Given the description of an element on the screen output the (x, y) to click on. 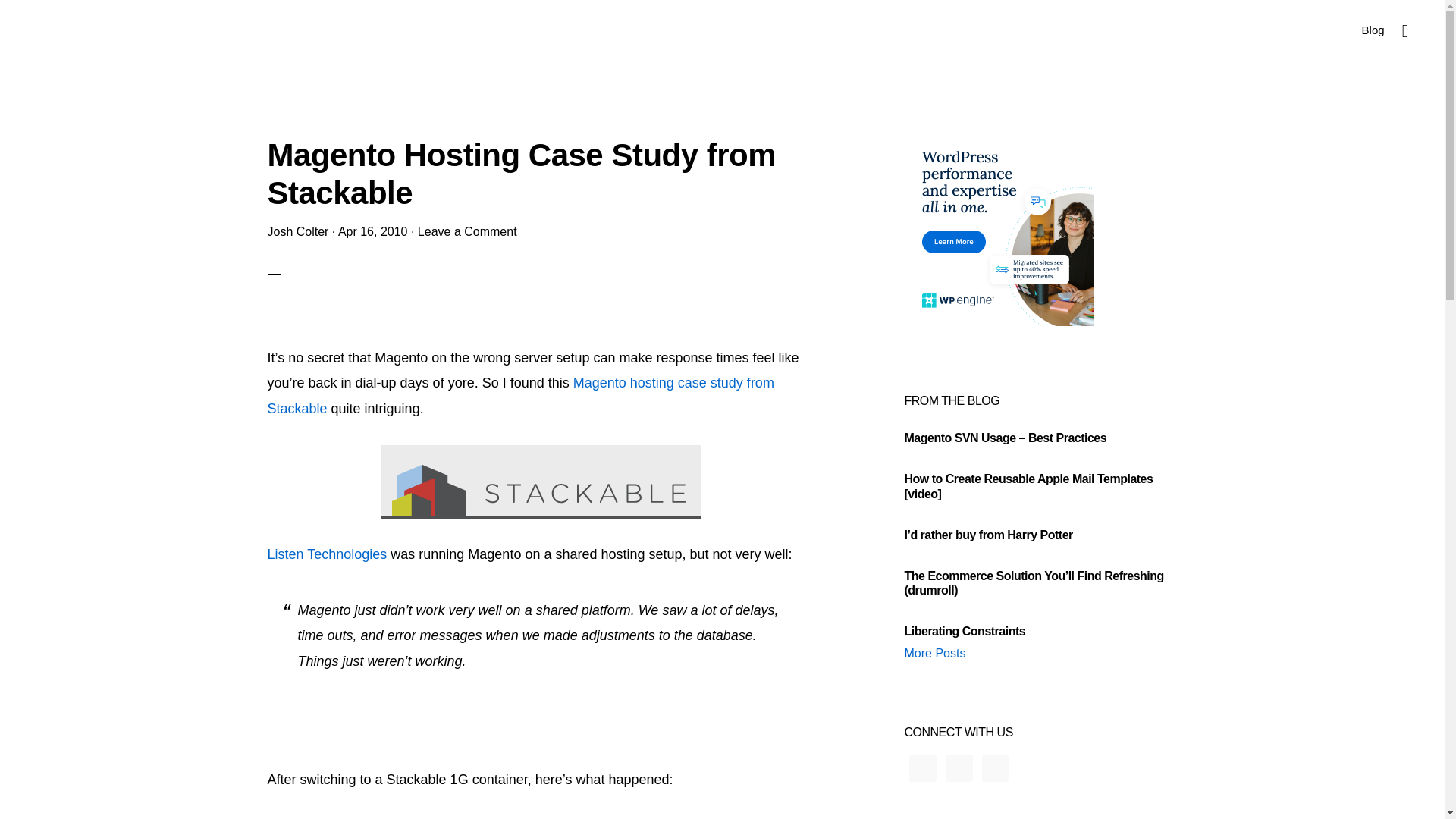
Blog (1372, 29)
Listen Technologies (326, 554)
BLOG (633, 776)
Genesis Framework (806, 750)
ELIAS INTERACTIVE (80, 30)
Stackable (540, 482)
Advertisement (539, 323)
Josh Colter (297, 231)
Magento hosting case study from Stackable (519, 395)
Advertisement (539, 705)
